Given the description of an element on the screen output the (x, y) to click on. 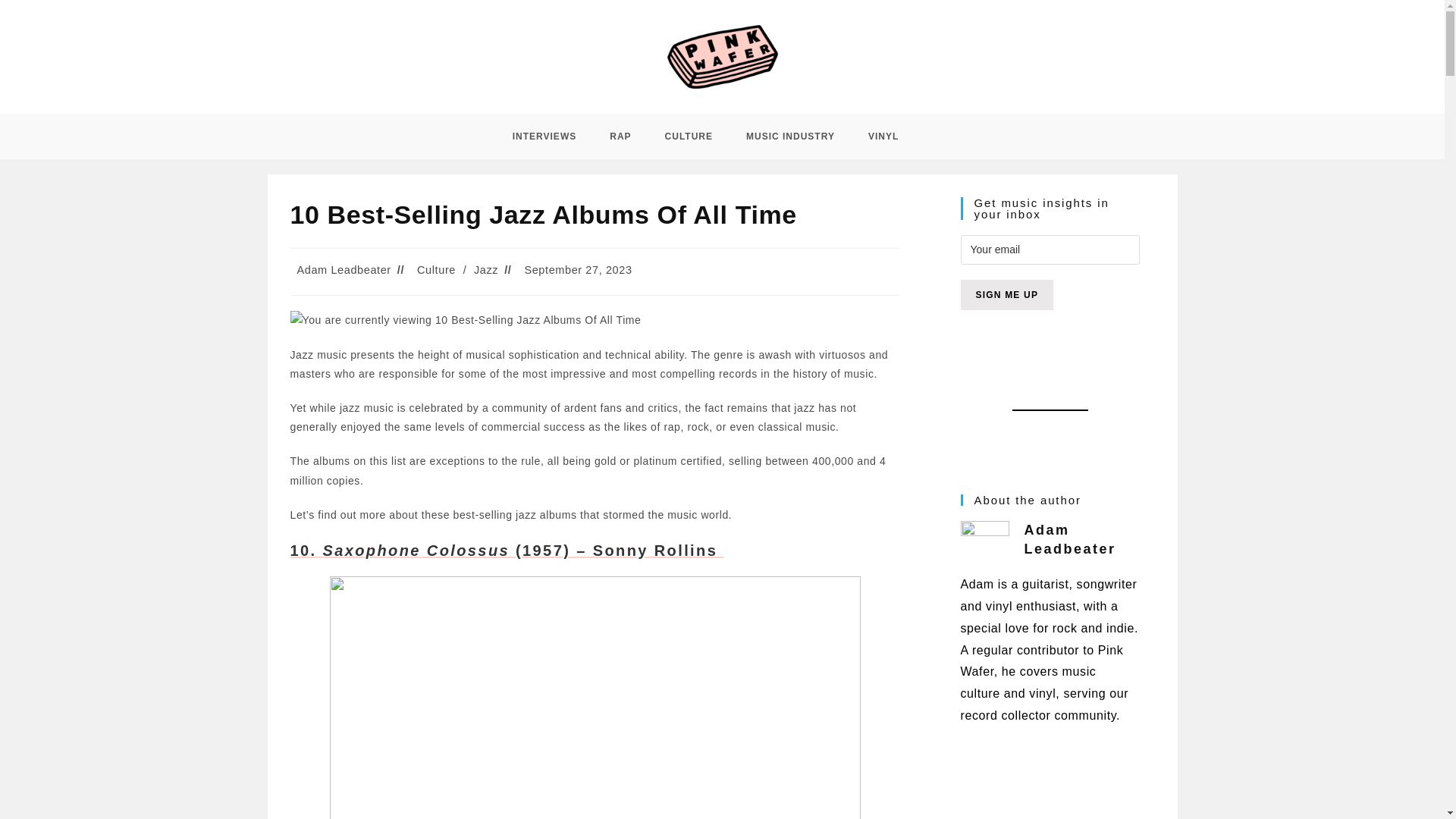
INTERVIEWS (544, 135)
MUSIC INDUSTRY (790, 135)
Posts by Adam Leadbeater (344, 269)
CULTURE (688, 135)
Your email (1048, 249)
Adam Leadbeater (344, 269)
Sign Me Up (1005, 295)
Adam Leadbeater (1069, 539)
Sign Me Up (1005, 295)
Culture (435, 269)
